Given the description of an element on the screen output the (x, y) to click on. 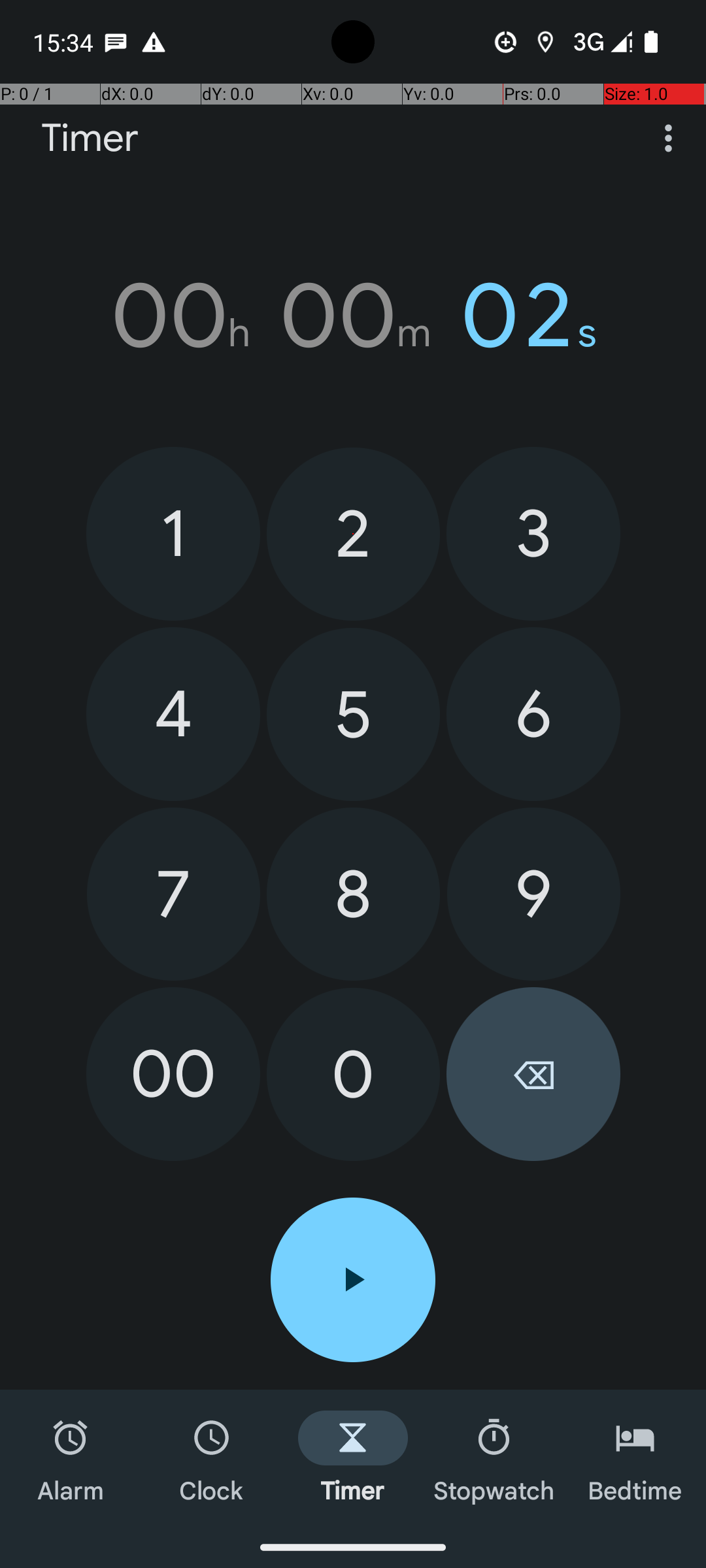
Timer Element type: android.widget.TextView (89, 138)
00h 00m 02s Element type: android.widget.TextView (353, 315)
1 Element type: android.widget.Button (173, 533)
2 Element type: android.widget.Button (352, 533)
3 Element type: android.widget.Button (533, 533)
4 Element type: android.widget.Button (173, 713)
5 Element type: android.widget.Button (352, 713)
6 Element type: android.widget.Button (533, 713)
7 Element type: android.widget.Button (173, 893)
8 Element type: android.widget.Button (352, 893)
9 Element type: android.widget.Button (533, 893)
00 Element type: android.widget.Button (173, 1073)
0 Element type: android.widget.Button (352, 1073)
⌫ Element type: android.widget.Button (533, 1073)
Start Element type: android.widget.Button (352, 1279)
Alarm Element type: android.widget.FrameLayout (70, 1457)
Clock Element type: android.widget.FrameLayout (211, 1457)
Stopwatch Element type: android.widget.FrameLayout (493, 1457)
Bedtime Element type: android.widget.FrameLayout (635, 1457)
Data Saver is on Element type: android.widget.ImageView (505, 41)
